Given the description of an element on the screen output the (x, y) to click on. 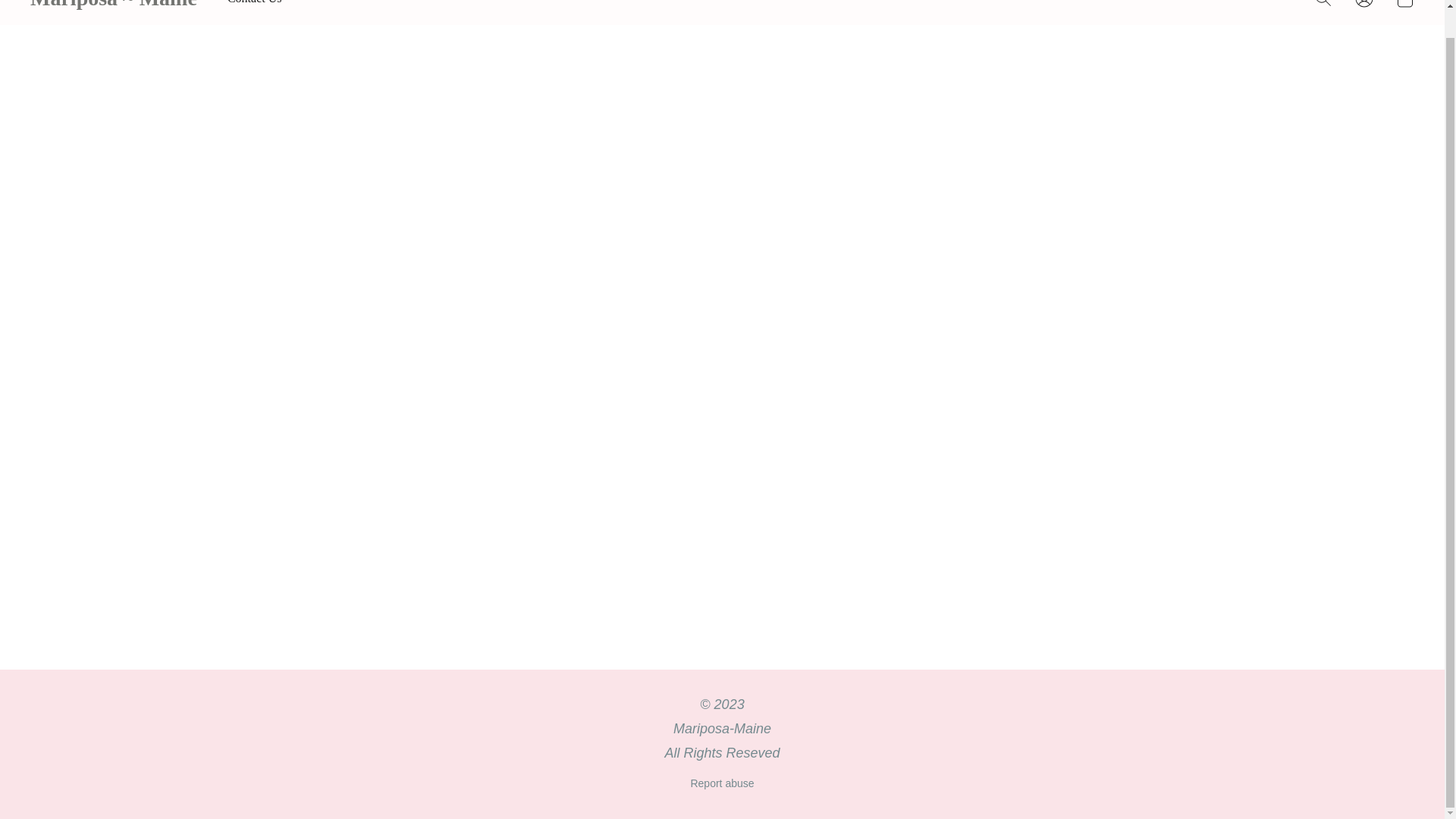
Contact Us (254, 6)
Report abuse (722, 782)
Search the website (1323, 7)
Go to your shopping cart (1404, 7)
